Given the description of an element on the screen output the (x, y) to click on. 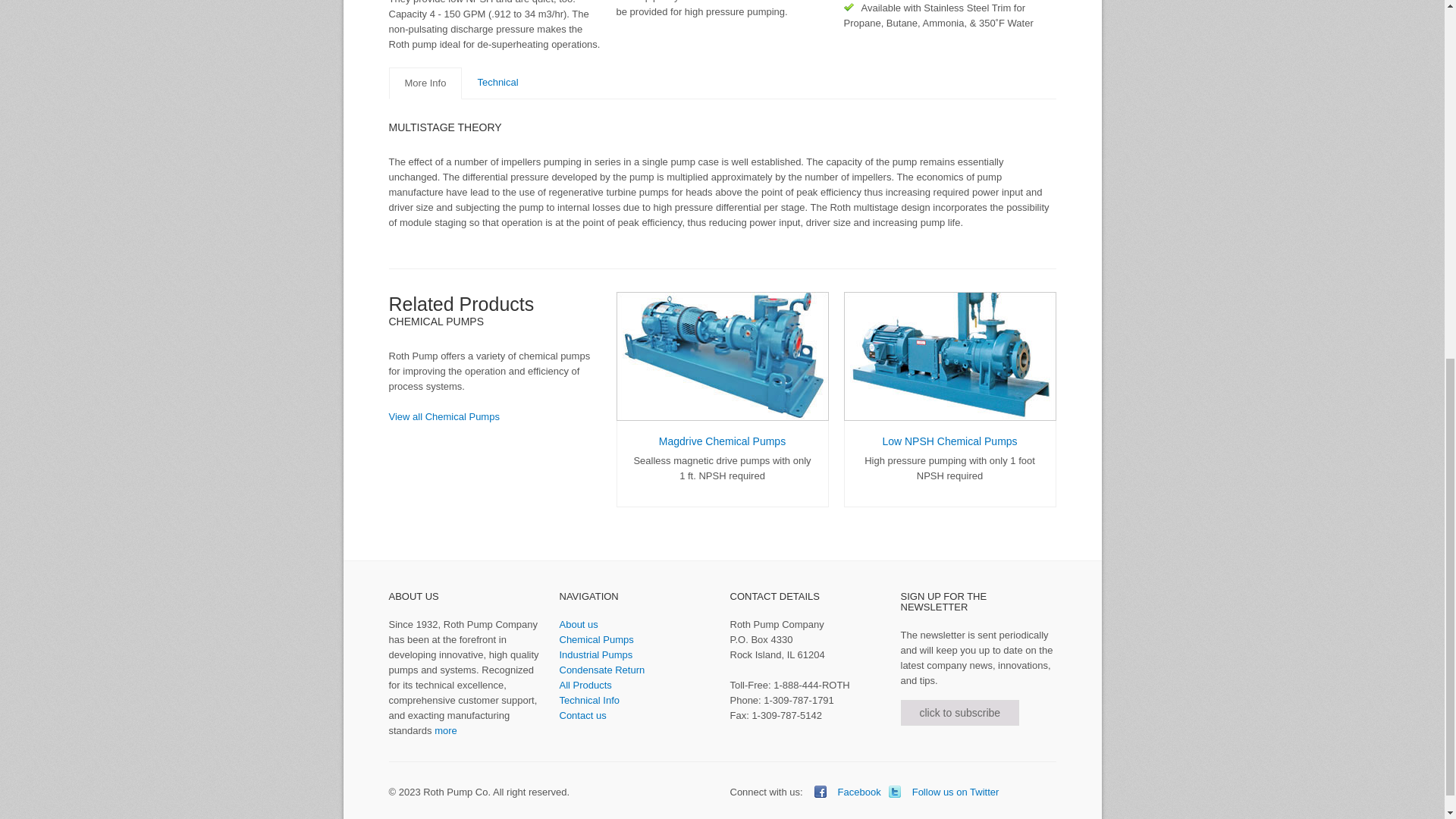
Low NPSH Chemical Pumps (949, 440)
View all Chemical Pumps (443, 416)
Technical (496, 82)
Magdrive Chemical Pumps (722, 440)
More Info (424, 83)
